Given the description of an element on the screen output the (x, y) to click on. 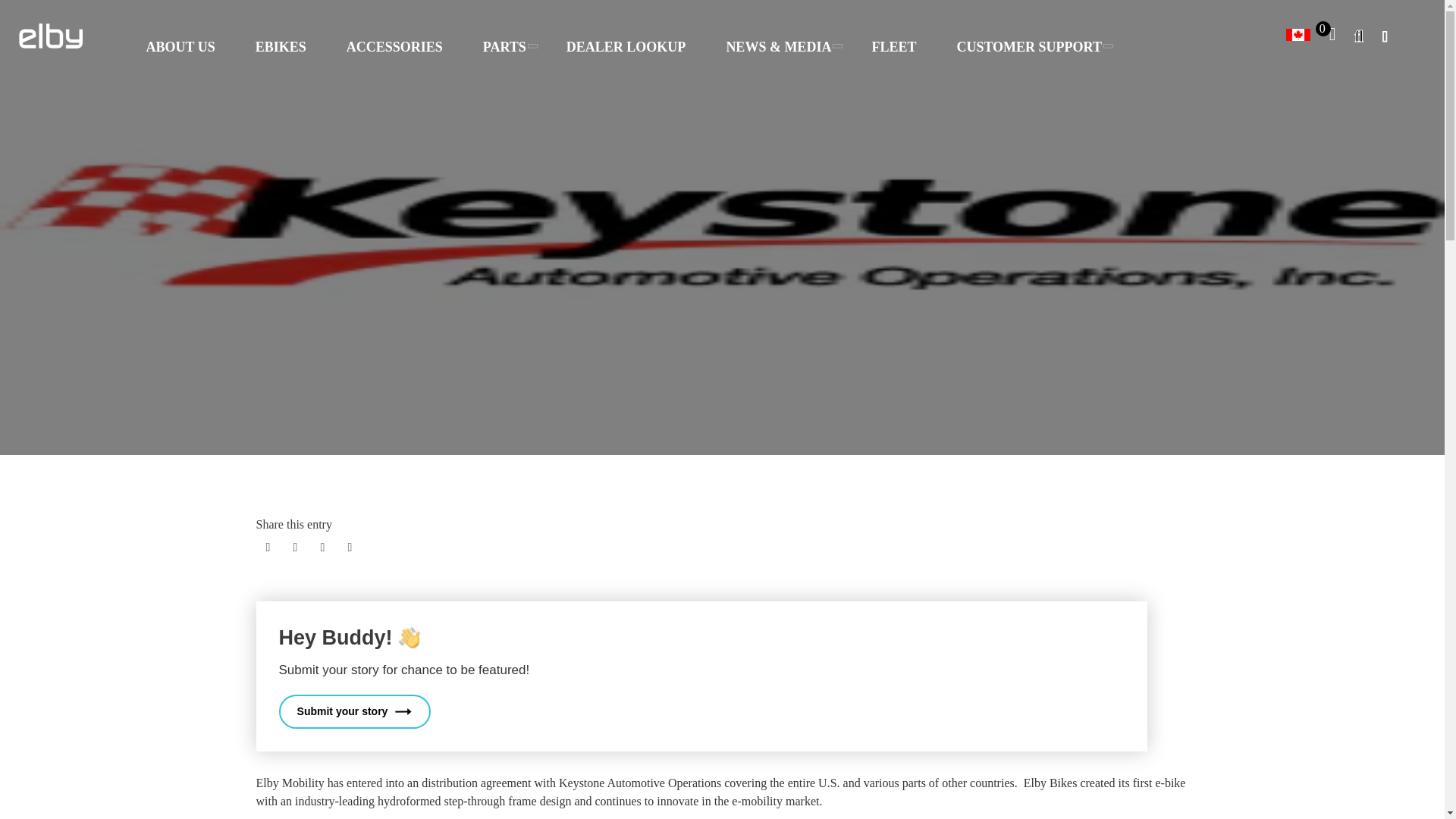
ABOUT US (180, 47)
ACCESSORIES (395, 47)
EBIKES (280, 47)
DEALER LOOKUP (626, 47)
Submit your story (354, 711)
FLEET (893, 47)
CUSTOMER SUPPORT (1028, 47)
PARTS (504, 47)
